Given the description of an element on the screen output the (x, y) to click on. 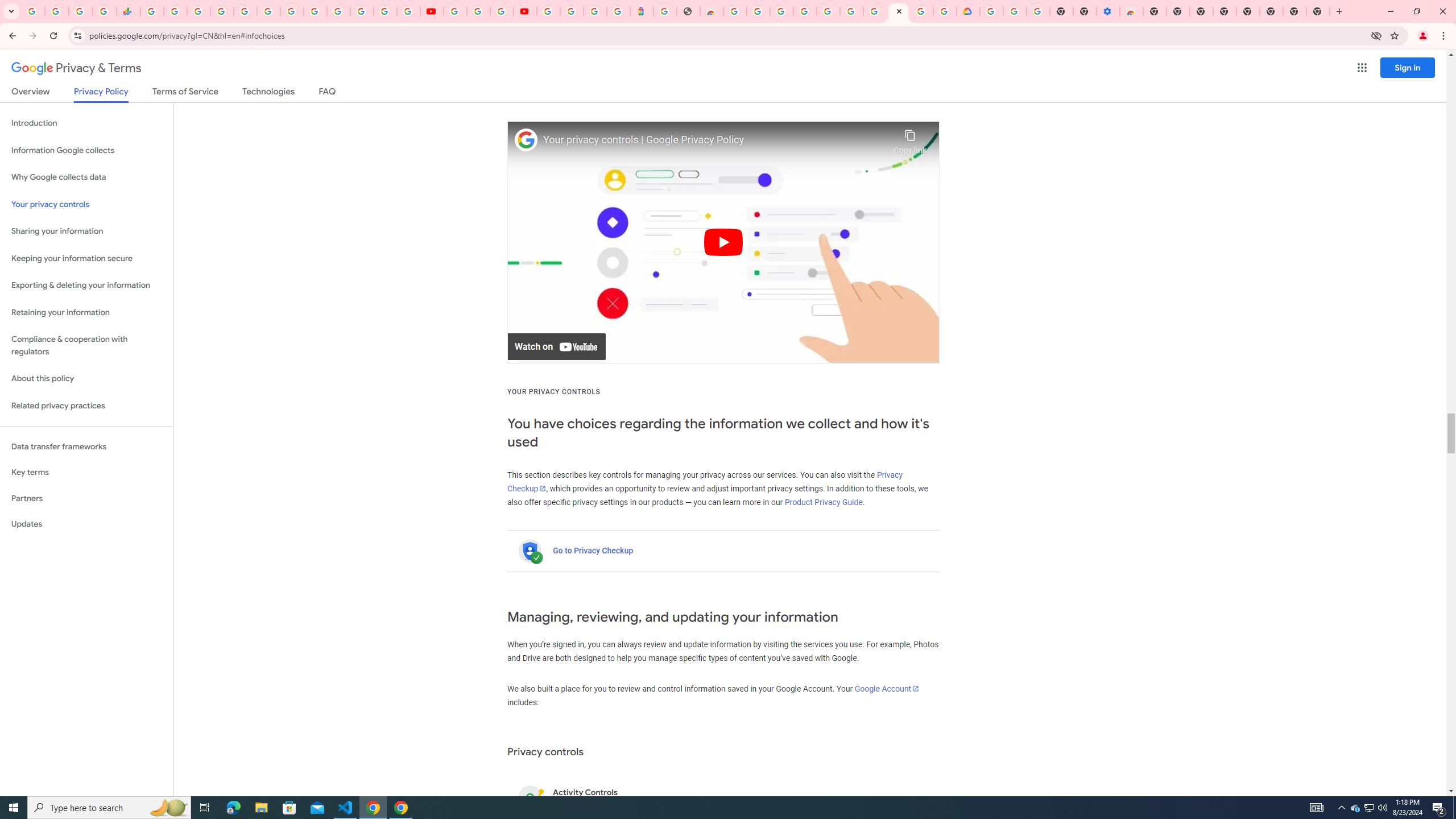
Ad Settings (804, 11)
Privacy Checkup (408, 11)
Product Privacy Guide (823, 501)
Google Account (887, 688)
Copy link (909, 139)
